Given the description of an element on the screen output the (x, y) to click on. 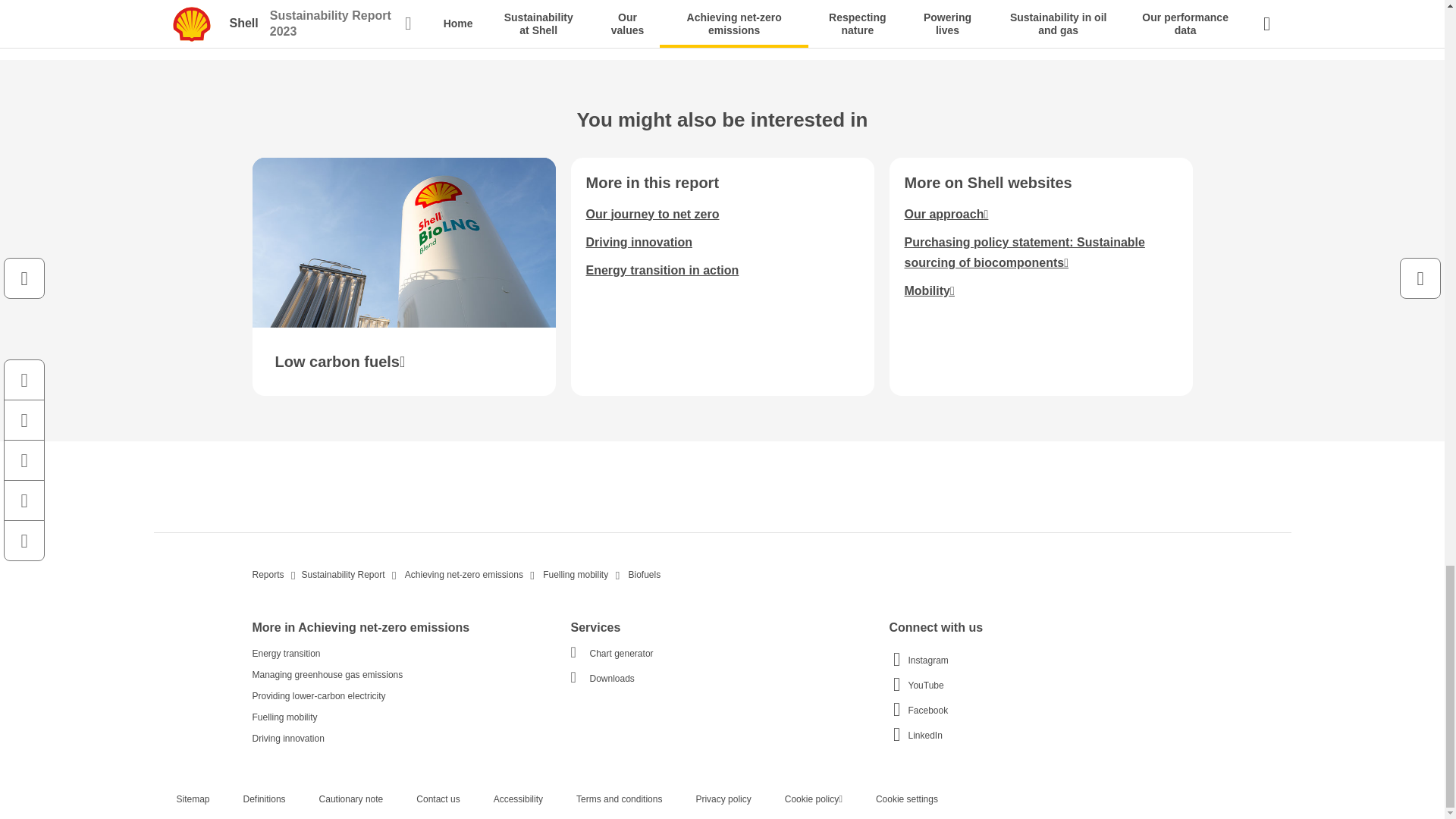
Opens in new window (946, 214)
Opens in new window (928, 290)
Opens in new window (1024, 252)
Opens in new window (402, 277)
